Given the description of an element on the screen output the (x, y) to click on. 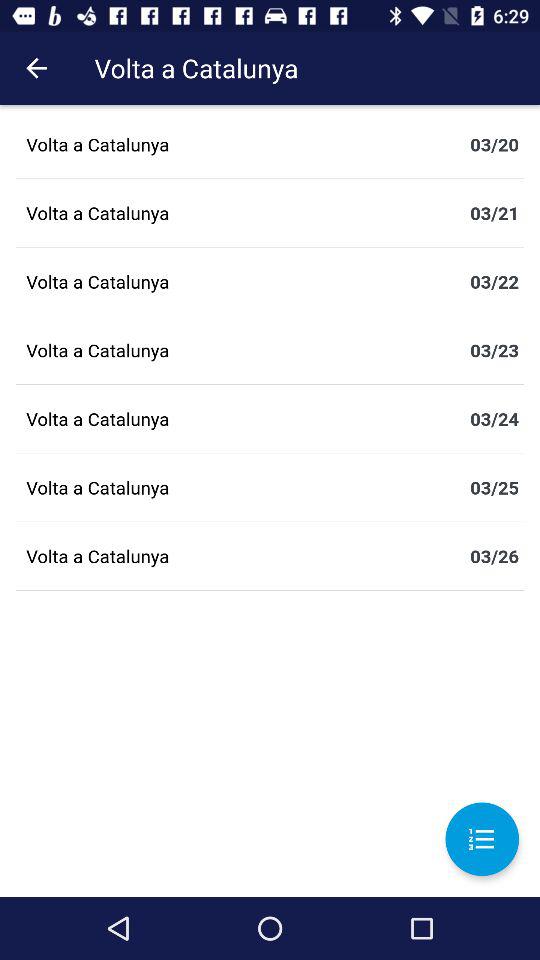
turn on icon next to the volta a catalunya icon (36, 68)
